Given the description of an element on the screen output the (x, y) to click on. 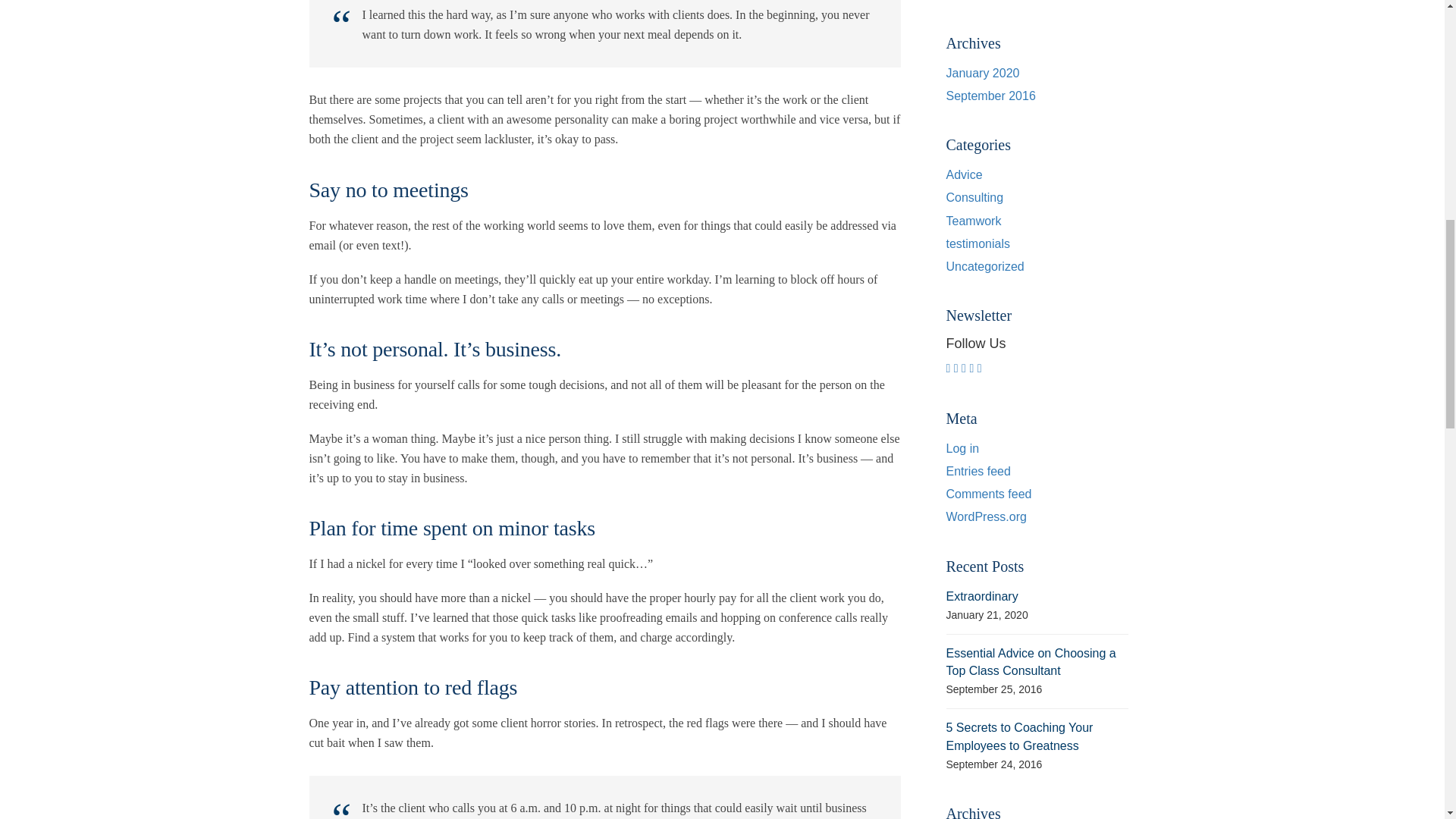
Advice (964, 174)
September 2016 (990, 95)
Consulting (975, 196)
January 2020 (983, 72)
